Given the description of an element on the screen output the (x, y) to click on. 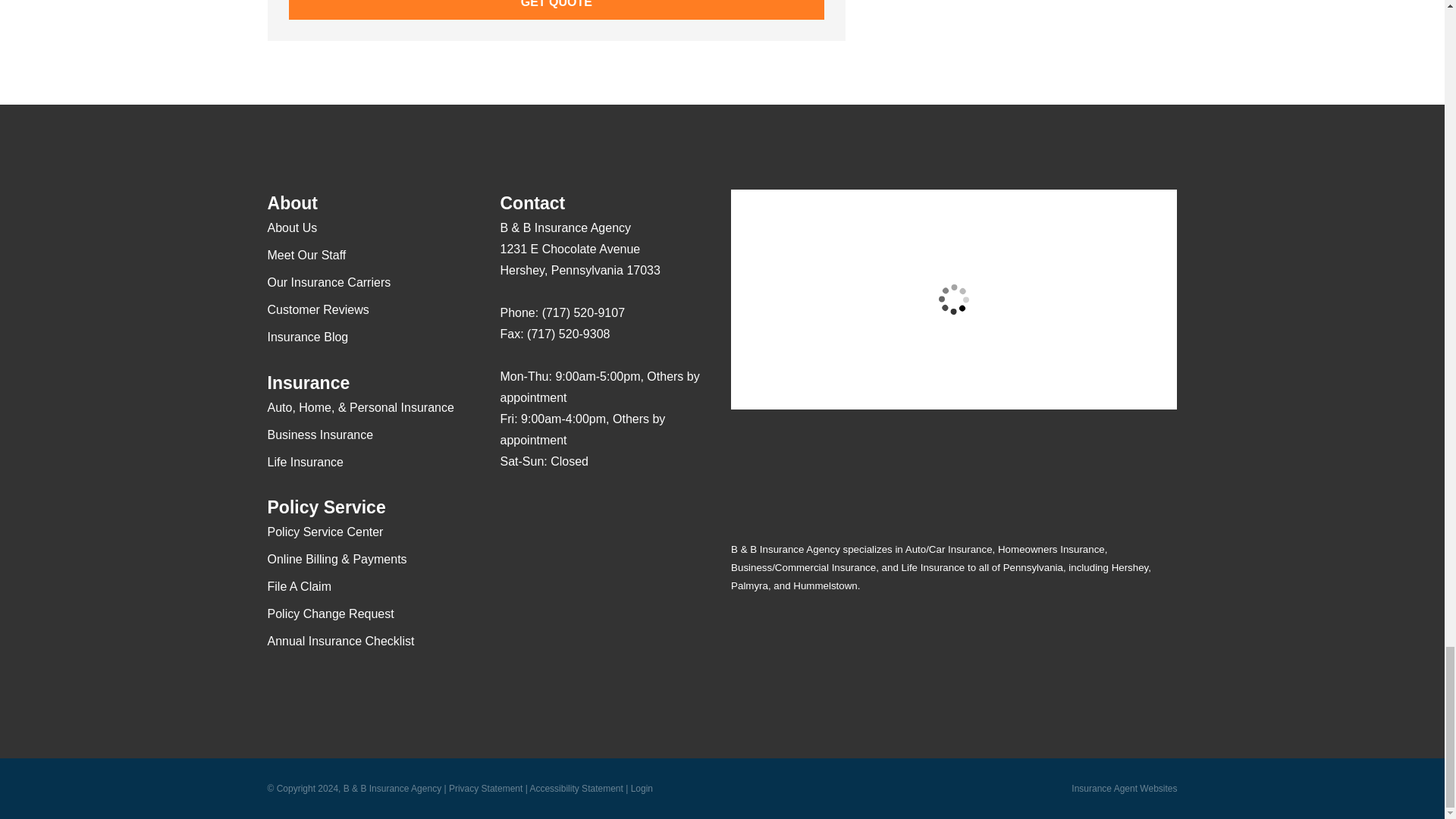
Facebook (541, 506)
Google Maps (511, 506)
Local Erie Insurance Agent (593, 600)
Get Quote (556, 9)
